Given the description of an element on the screen output the (x, y) to click on. 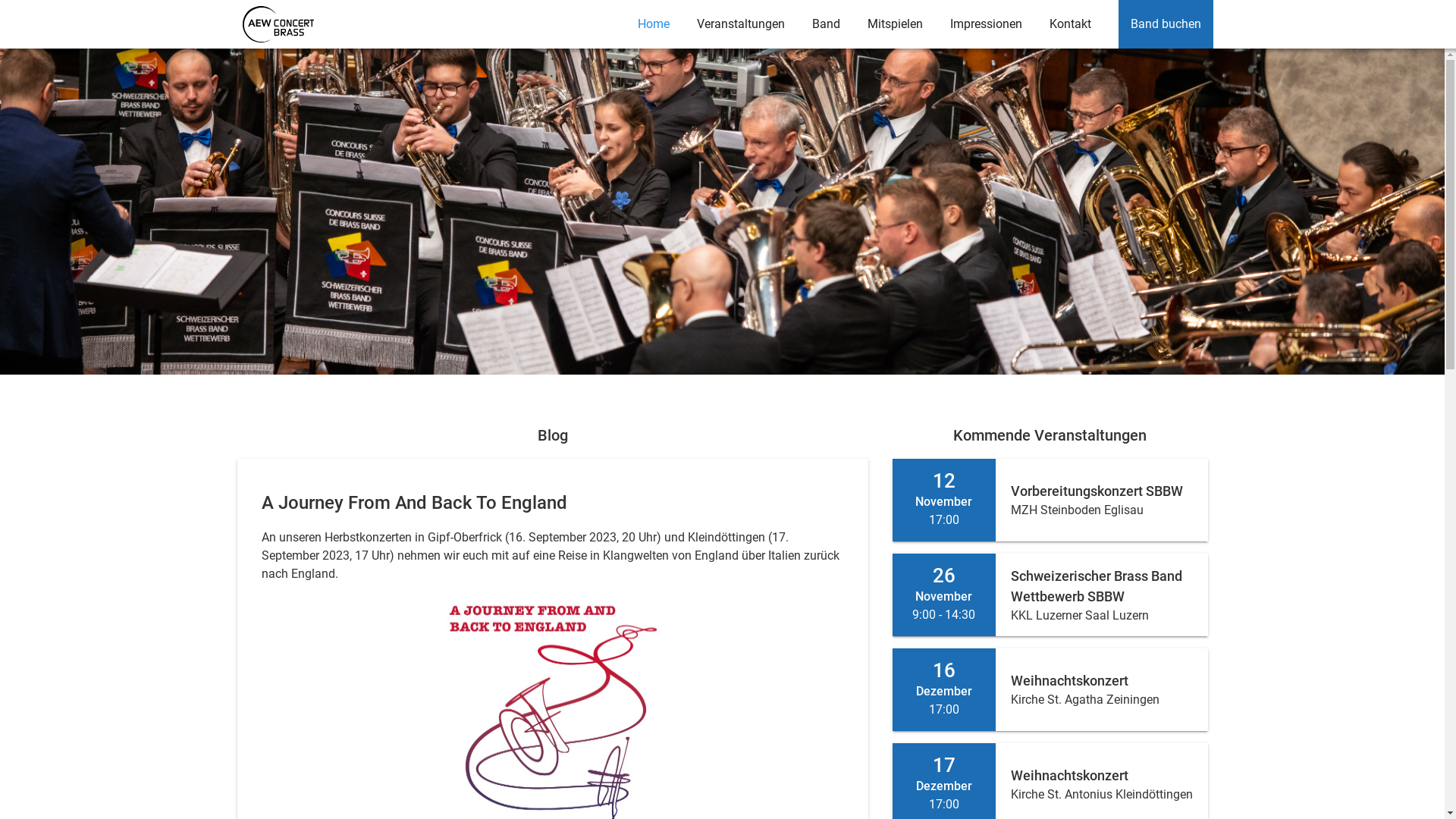
Band buchen Element type: text (1165, 24)
Home Element type: text (653, 24)
Kontakt Element type: text (1070, 24)
Band Element type: text (826, 24)
Mitspielen Element type: text (895, 24)
Impressionen Element type: text (986, 24)
Veranstaltungen Element type: text (740, 24)
